Given the description of an element on the screen output the (x, y) to click on. 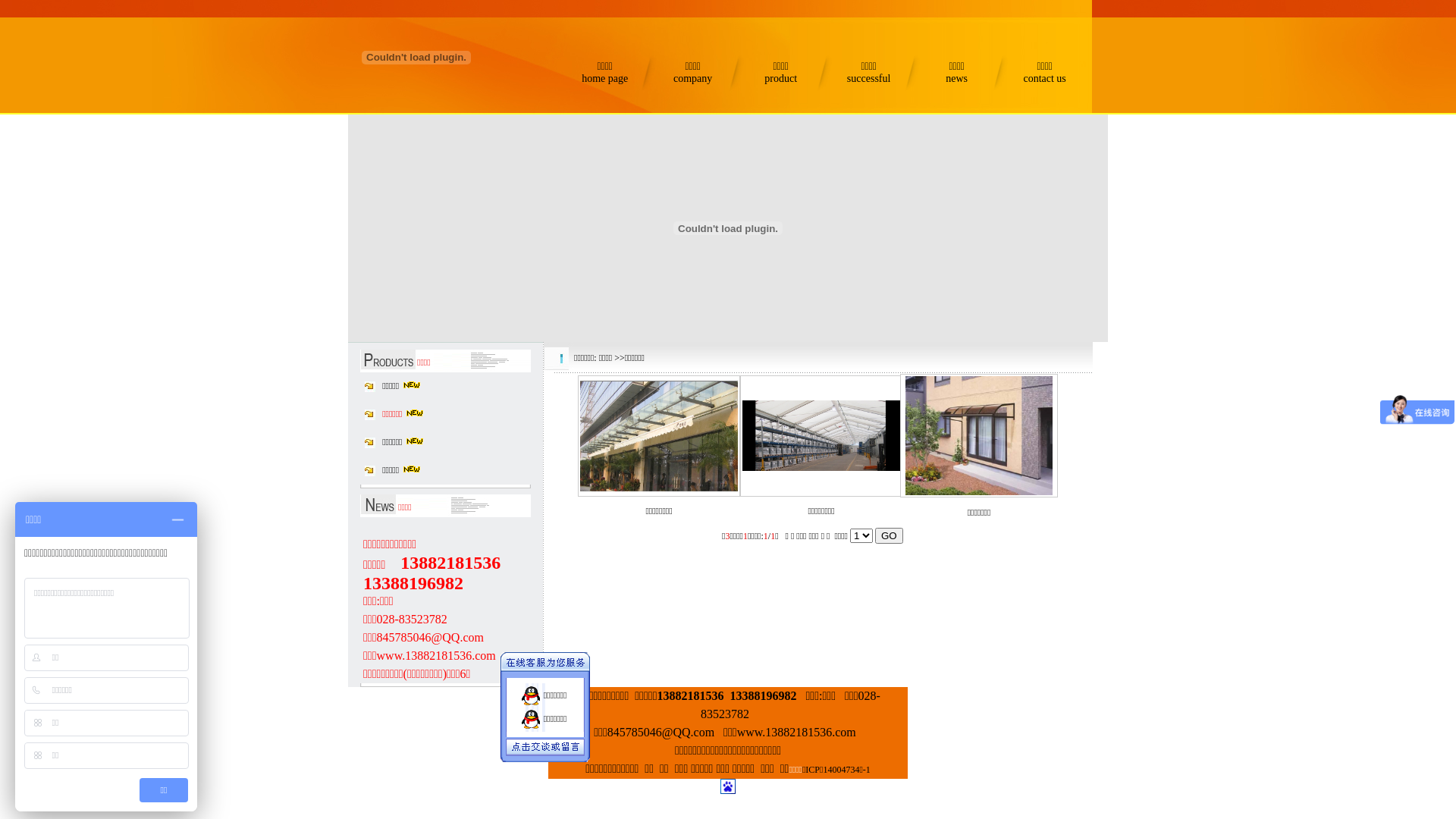
GO Element type: text (889, 535)
